Given the description of an element on the screen output the (x, y) to click on. 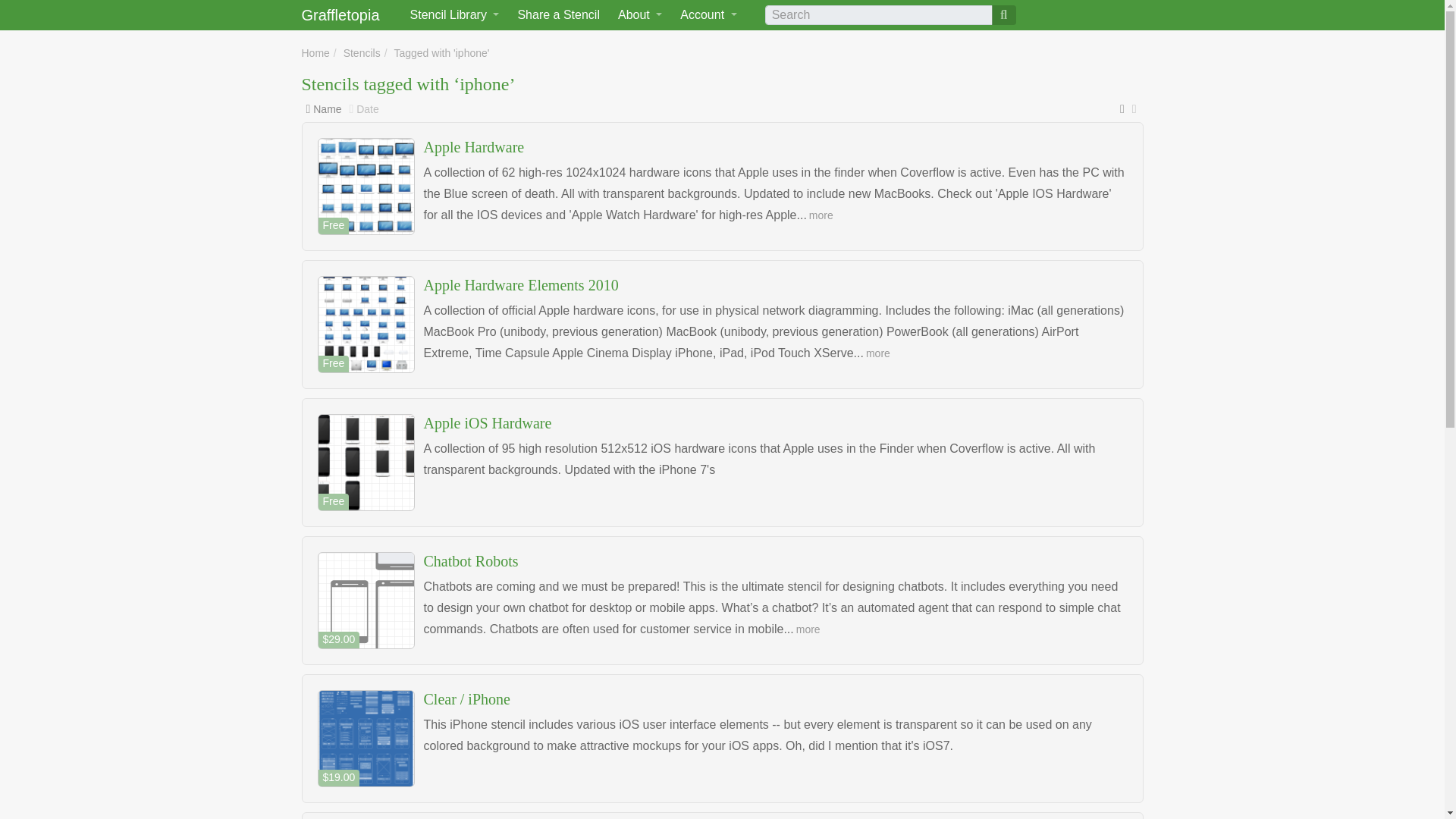
About (639, 15)
Name (326, 109)
Stencil Library (454, 15)
Tagged with 'iphone' (441, 52)
Account (708, 15)
Graffletopia (344, 15)
Home (315, 52)
Stencils (361, 52)
Share a Stencil (558, 15)
Date (367, 109)
